Given the description of an element on the screen output the (x, y) to click on. 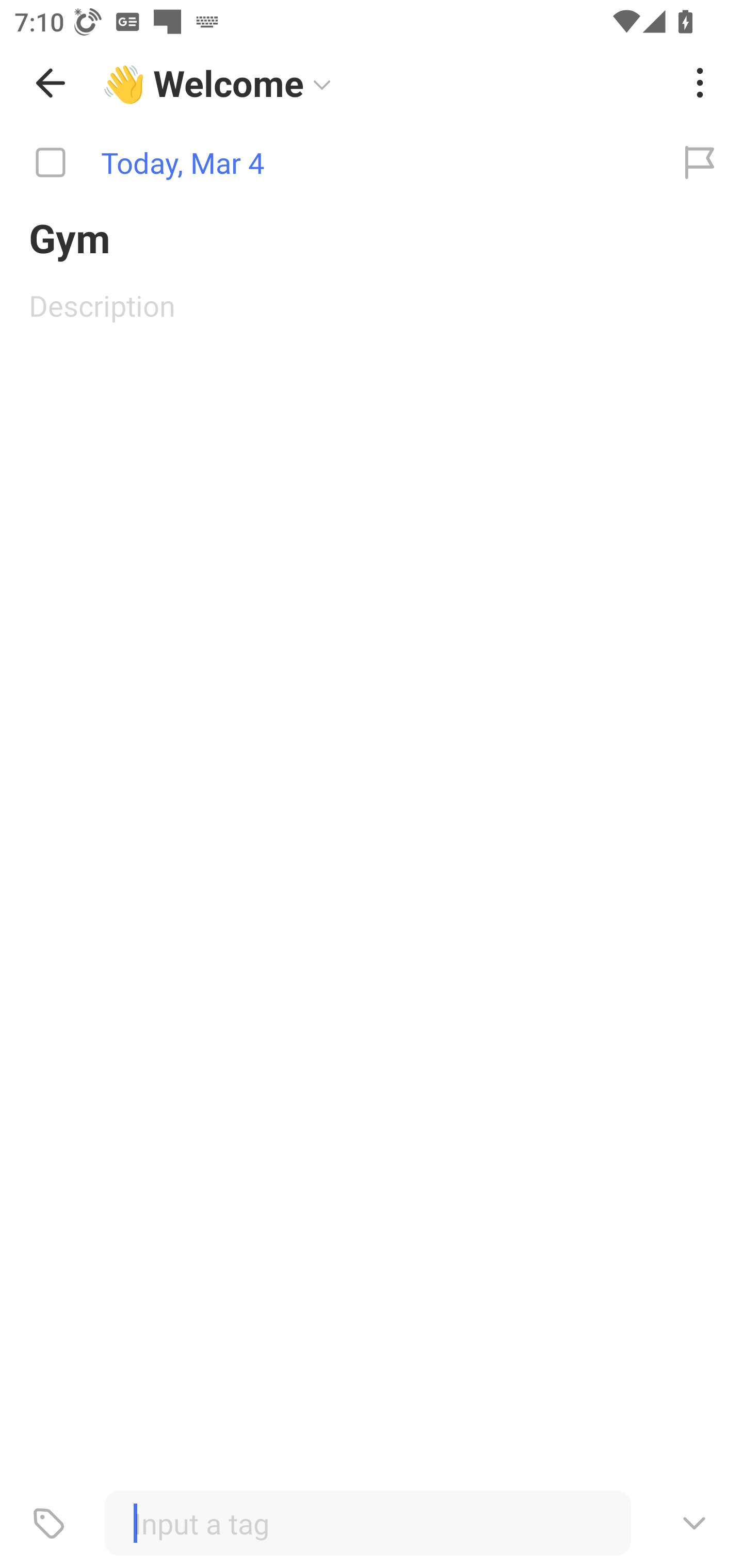
👋 Welcome (384, 82)
Today, Mar 4  (328, 163)
Gym (371, 237)
Description (371, 304)
Input a tag (367, 1523)
